Given the description of an element on the screen output the (x, y) to click on. 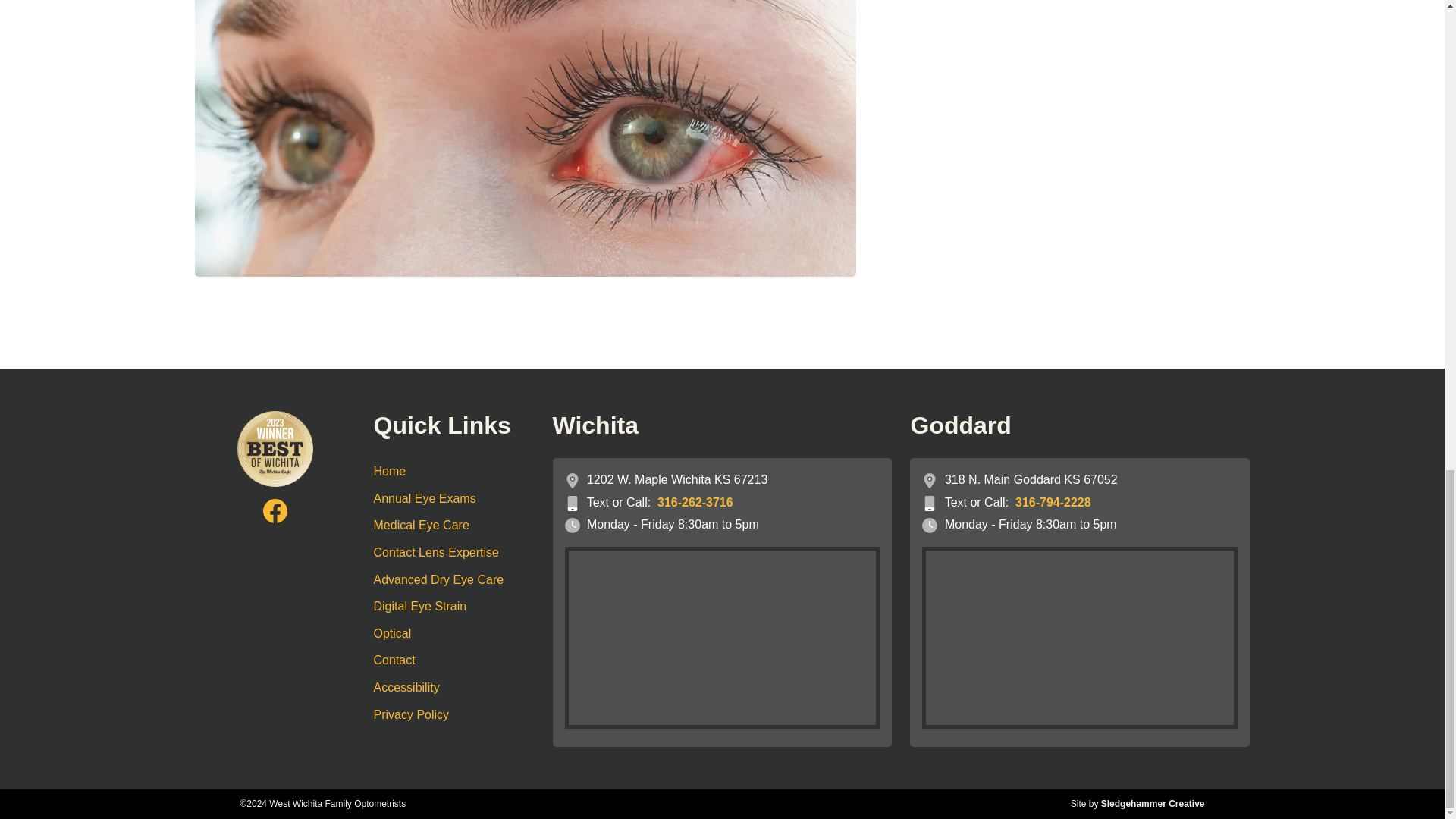
Medical Eye Care (453, 524)
Visit Us on Facebook (274, 510)
316-794-2228 (1052, 502)
Home (453, 471)
Wichita Location Map (721, 637)
Annual Eye Exams (453, 498)
316-262-3716 (695, 502)
Contact Lens Expertise (453, 552)
Goddard Location Map (1079, 637)
